Given the description of an element on the screen output the (x, y) to click on. 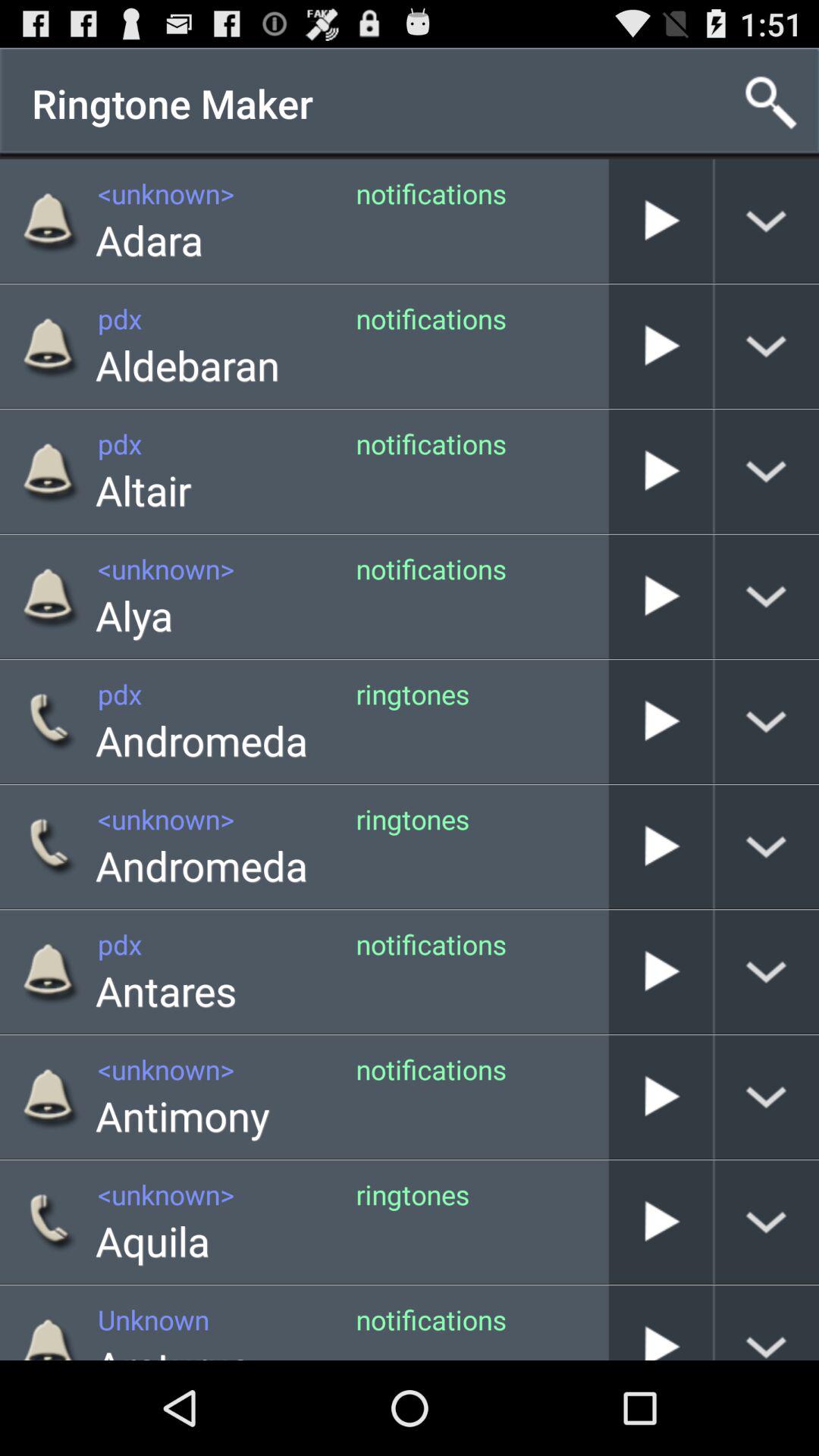
drop down button (767, 346)
